Given the description of an element on the screen output the (x, y) to click on. 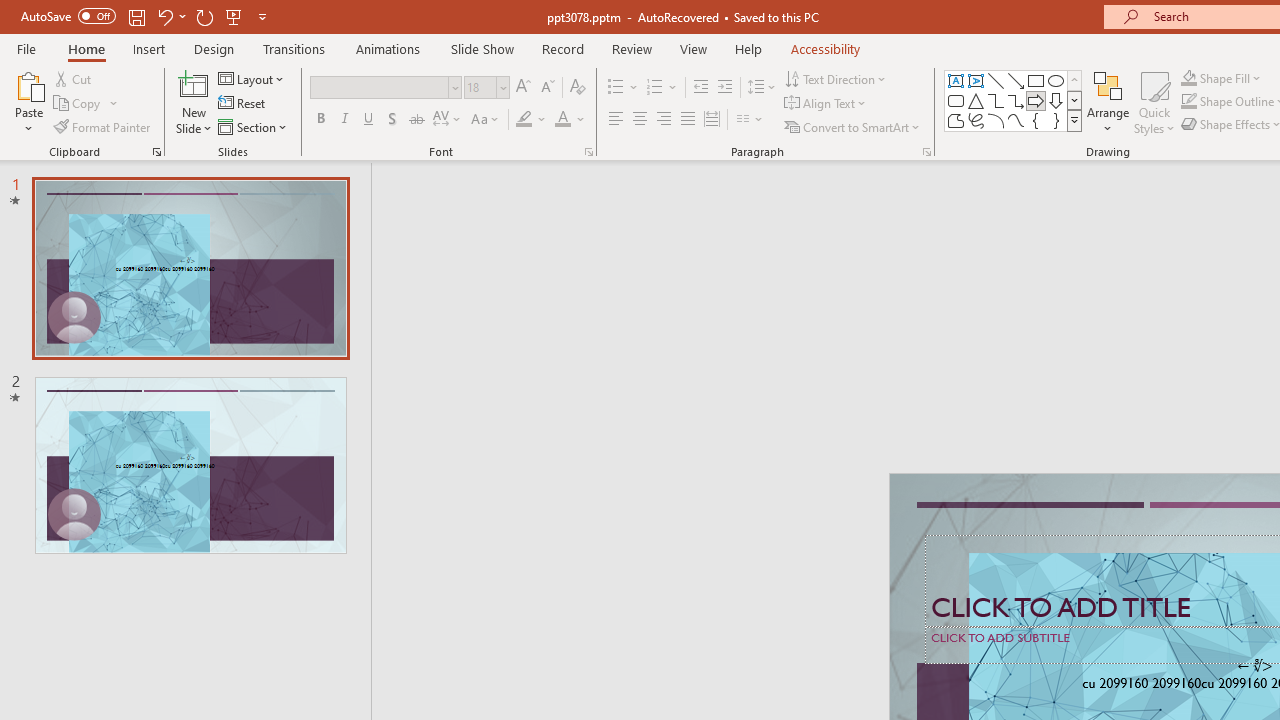
Shape Outline Green, Accent 1 (1188, 101)
